Given the description of an element on the screen output the (x, y) to click on. 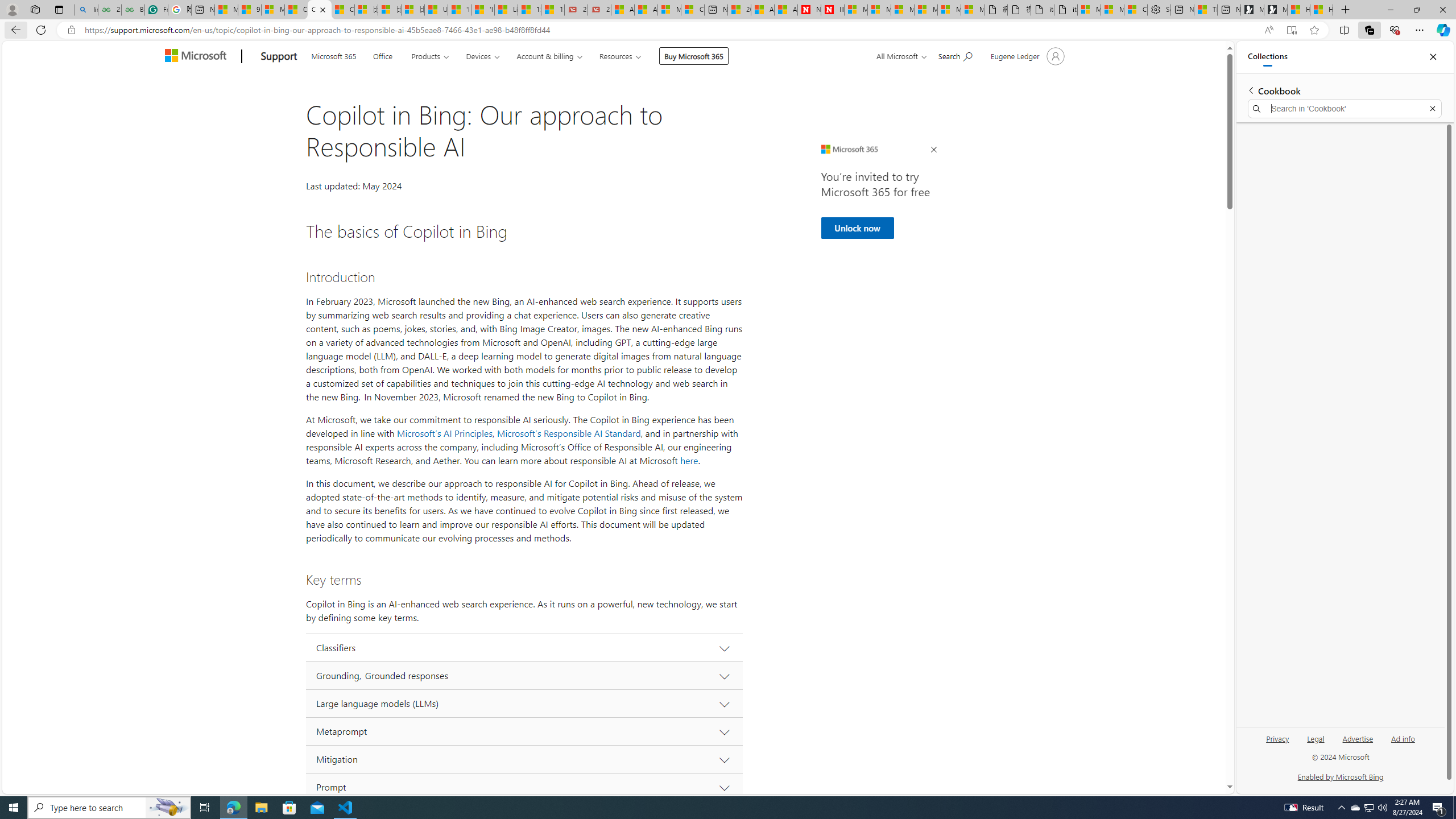
itconcepthk.com/projector_solutions.mp4 (1065, 9)
25 Basic Linux Commands For Beginners - GeeksforGeeks (109, 9)
Newsweek - News, Analysis, Politics, Business, Technology (809, 9)
Best SSL Certificates Provider in India - GeeksforGeeks (132, 9)
